Given the description of an element on the screen output the (x, y) to click on. 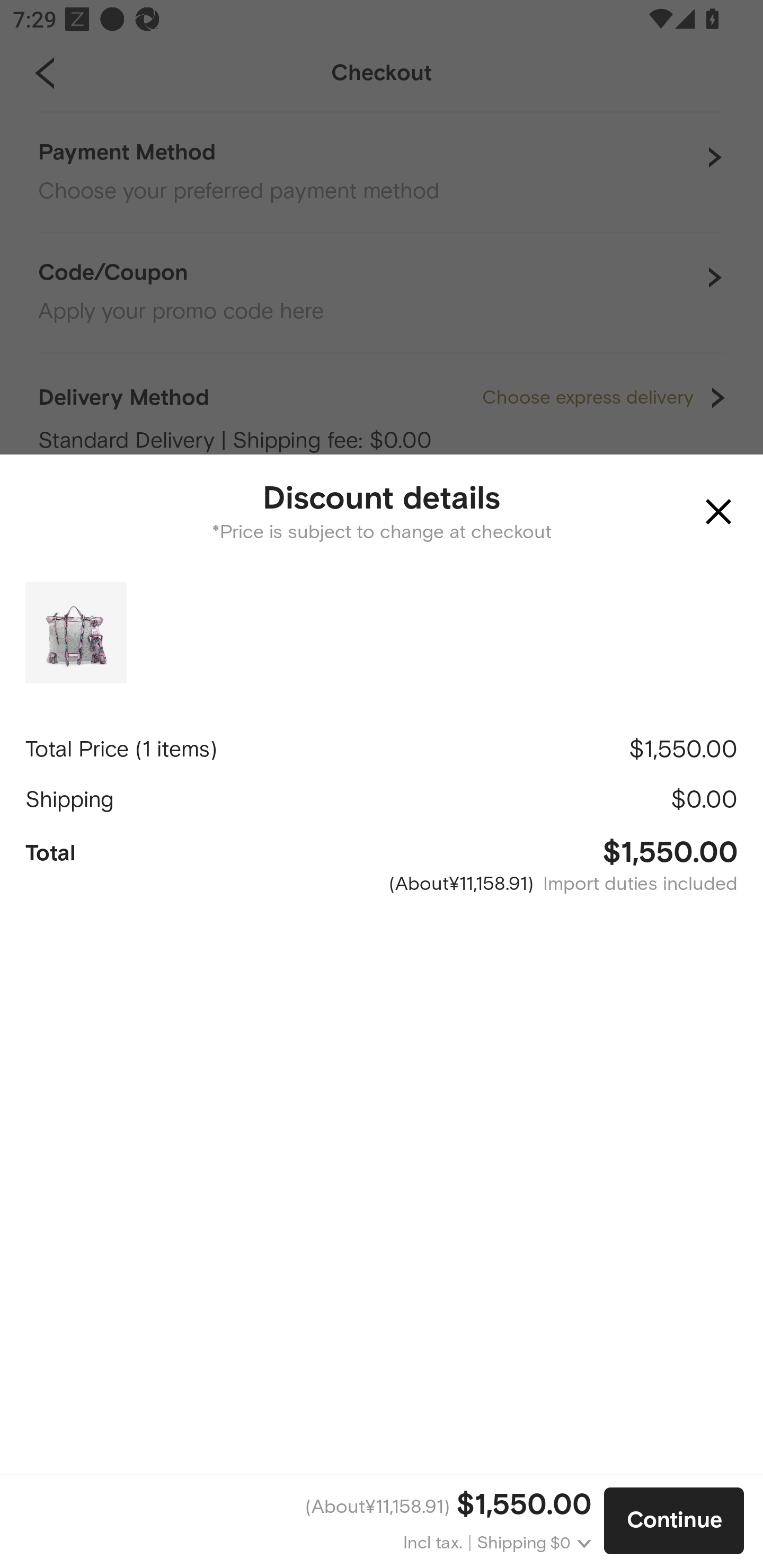
(About¥11,158.91) $1,550.00 Incl tax. Shipping $0 (302, 1520)
Continue (673, 1520)
